Given the description of an element on the screen output the (x, y) to click on. 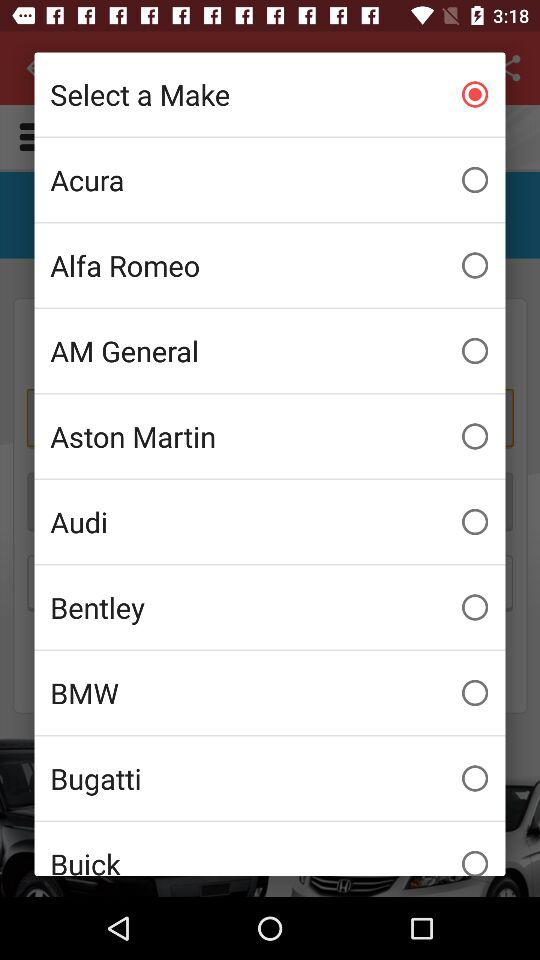
tap the item below bugatti (269, 848)
